Given the description of an element on the screen output the (x, y) to click on. 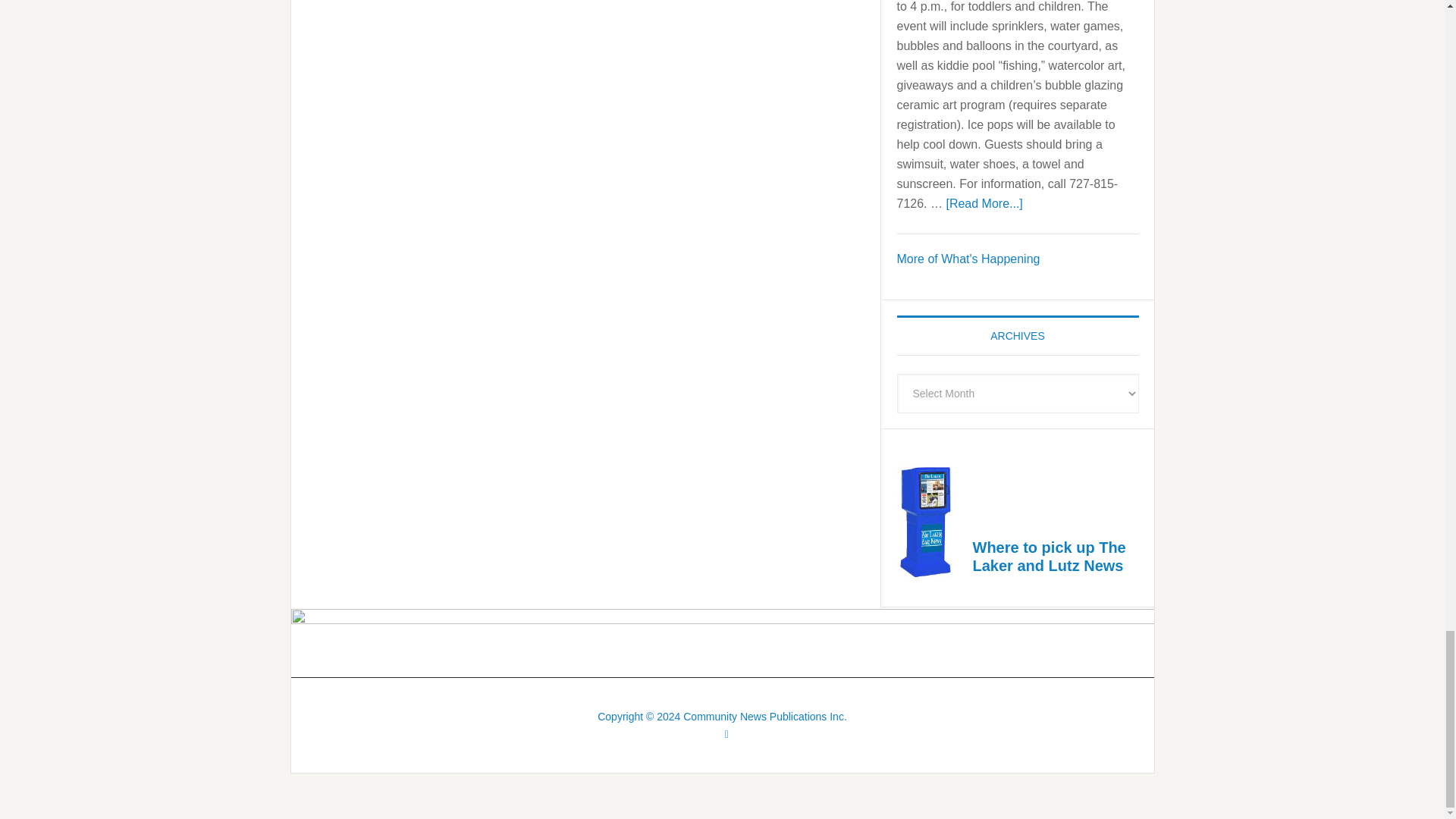
What's Happening (967, 258)
